Given the description of an element on the screen output the (x, y) to click on. 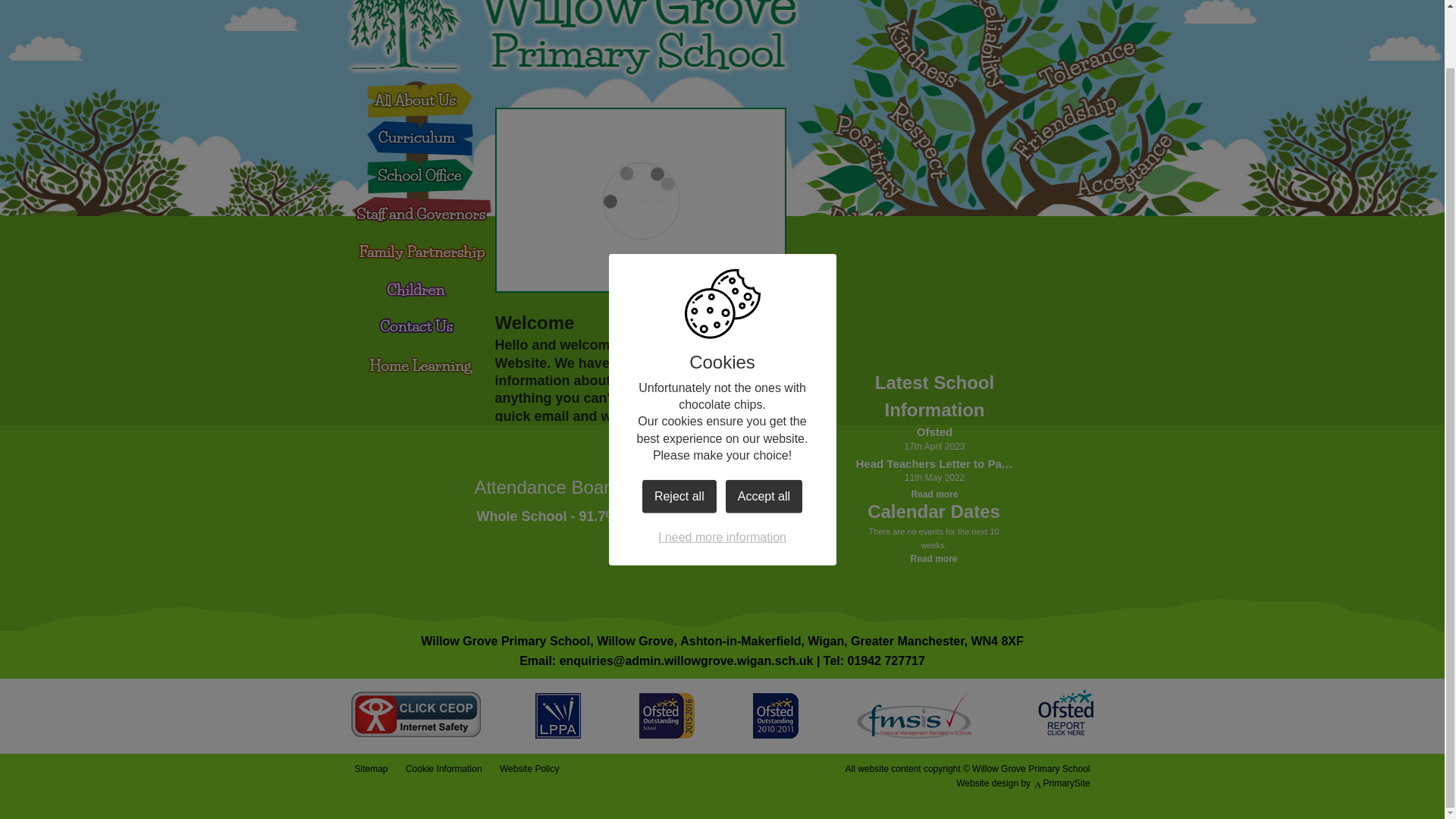
All About Us (418, 99)
Head Teachers Letter to Parents 11th May 2022 (934, 464)
Read more (934, 558)
Calendar Dates (934, 511)
Latest School Information (934, 396)
Read more (934, 494)
Ofsted (934, 432)
Curriculum (412, 143)
